Given the description of an element on the screen output the (x, y) to click on. 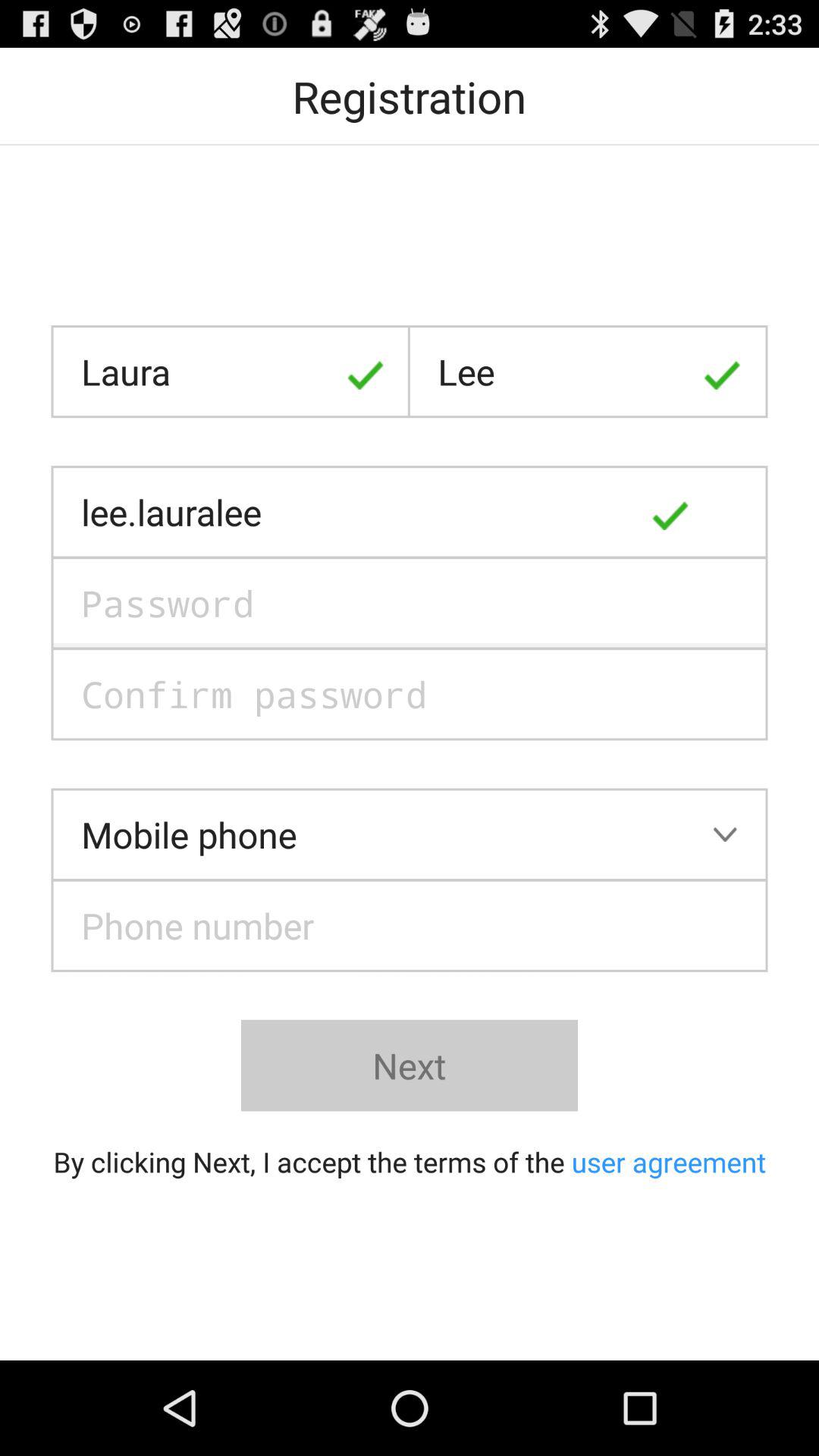
press button below the next item (409, 1161)
